Given the description of an element on the screen output the (x, y) to click on. 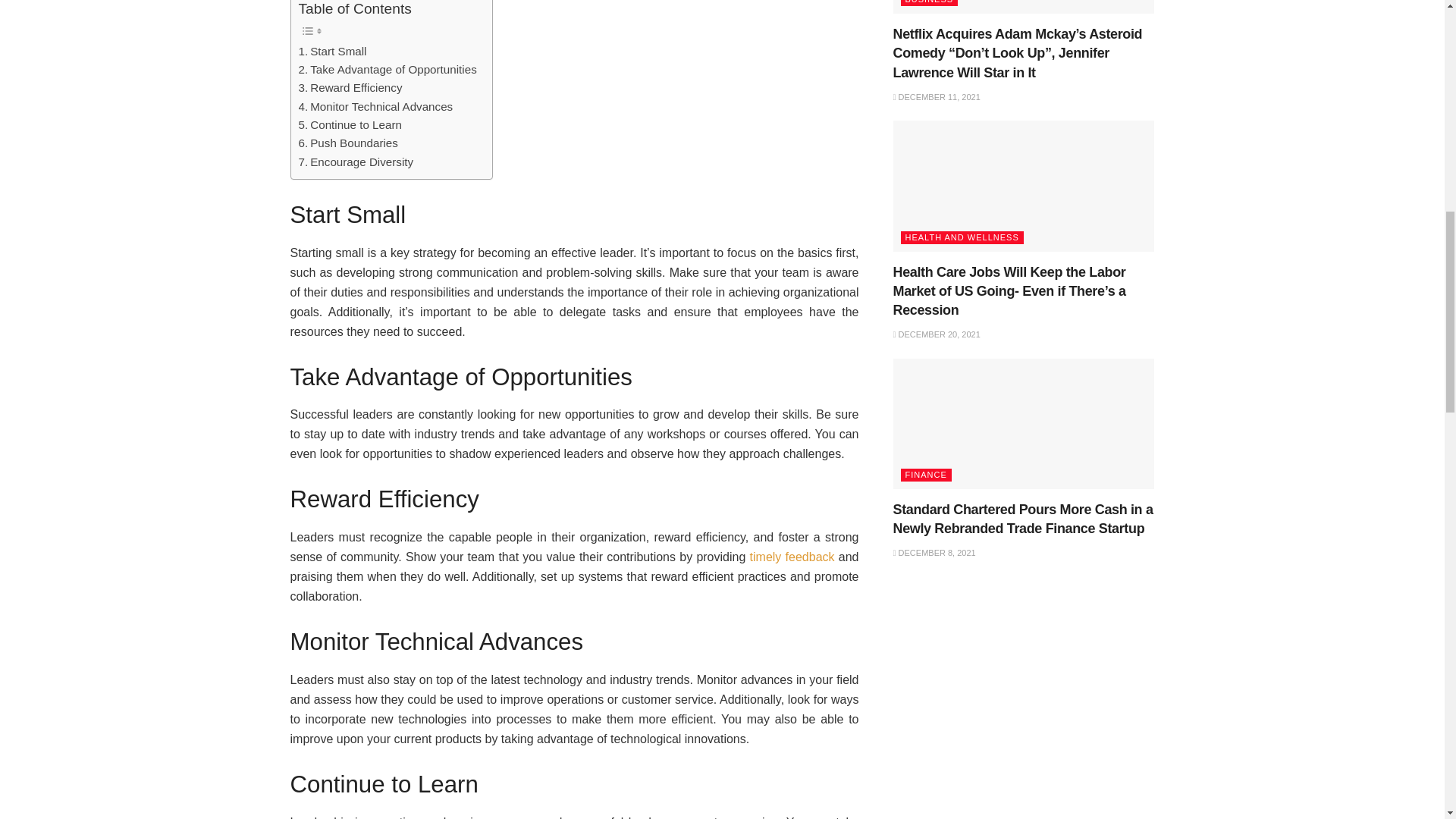
Encourage Diversity (355, 162)
Take Advantage of Opportunities (387, 69)
Reward Efficiency (350, 87)
Take Advantage of Opportunities (387, 69)
Continue to Learn (349, 125)
Push Boundaries (347, 143)
Monitor Technical Advances (375, 106)
Reward Efficiency (350, 87)
Monitor Technical Advances (375, 106)
Start Small (332, 51)
Continue to Learn (349, 125)
Start Small (332, 51)
